Given the description of an element on the screen output the (x, y) to click on. 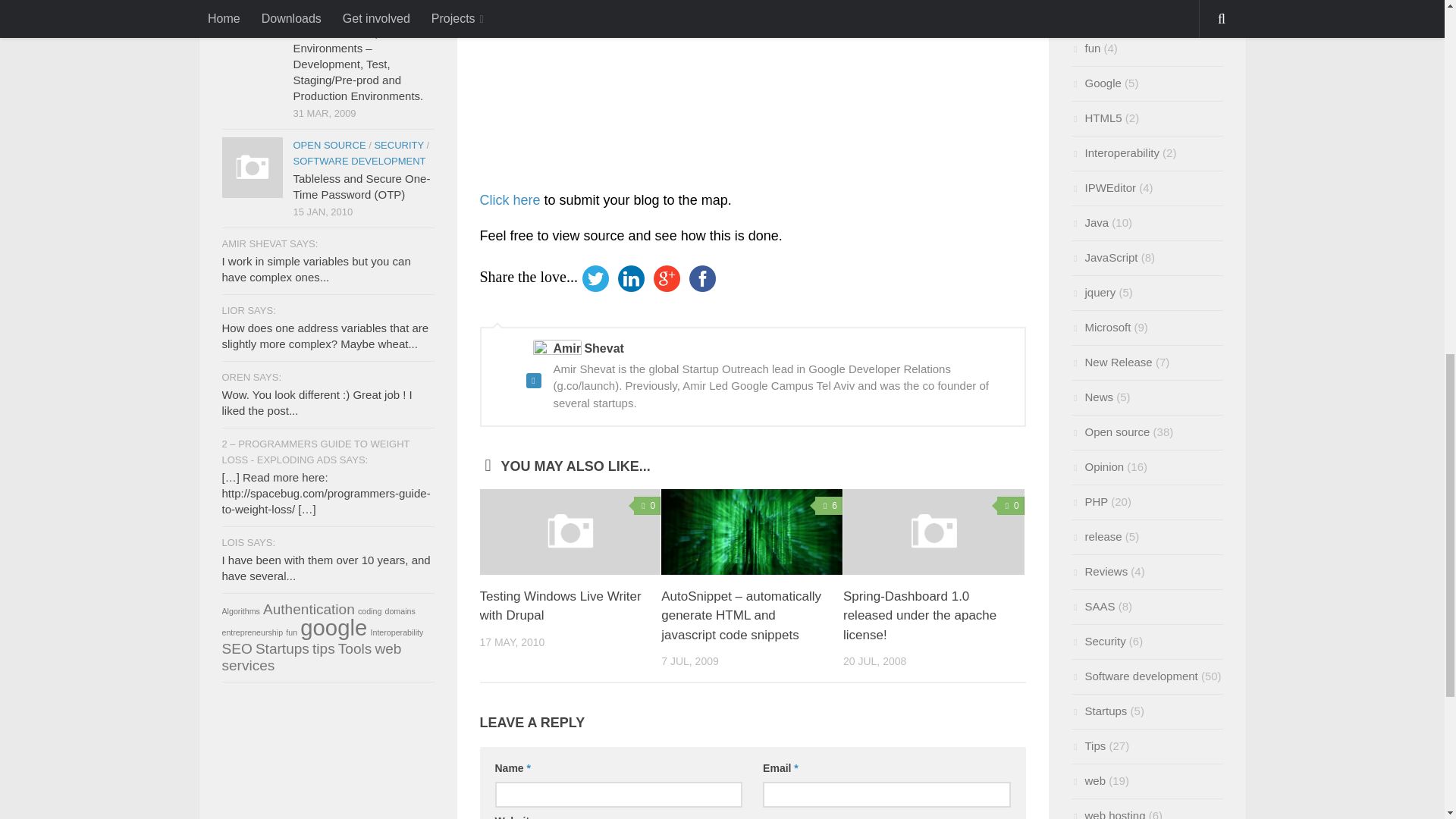
0 (647, 505)
Linkedin (630, 278)
Testing Windows Live Writer with Drupal (559, 605)
Twitter (595, 278)
Spring-Dashboard 1.0 released under the apache license! (919, 615)
Spring-Dashboard 1.0 released under the apache license! (934, 531)
Testing Windows Live Writer with Drupal (570, 531)
6 (829, 505)
Testing Windows Live Writer with Drupal (559, 605)
0 (1011, 505)
Facebook (702, 278)
Click here (509, 200)
